Given the description of an element on the screen output the (x, y) to click on. 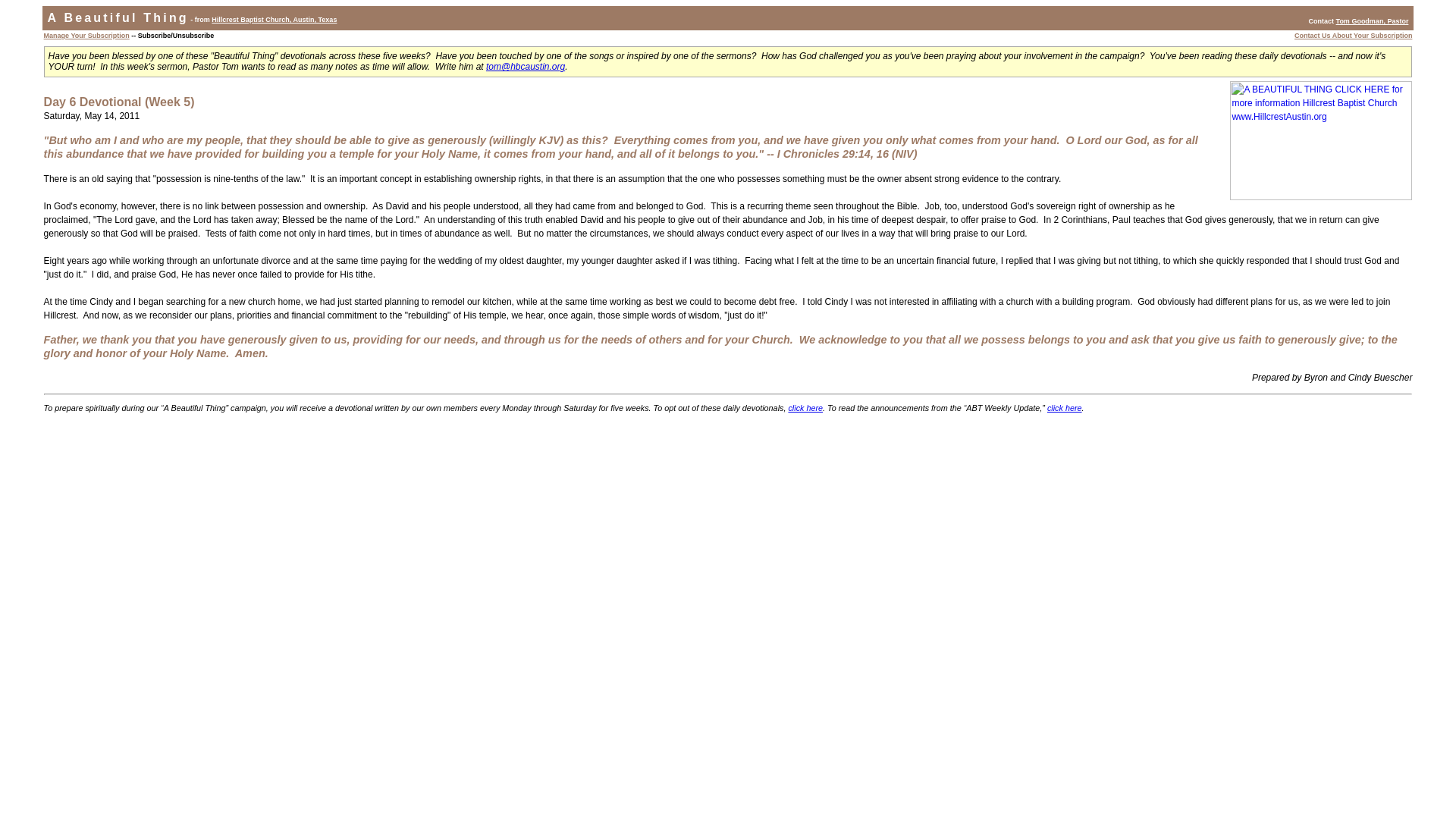
click here (1063, 407)
Manage Your Subscription (86, 35)
Contact Us About Your Subscription (1353, 35)
click here (804, 407)
Tom Goodman, Pastor (1372, 21)
Hillcrest Baptist Church, Austin, Texas (273, 19)
